Given the description of an element on the screen output the (x, y) to click on. 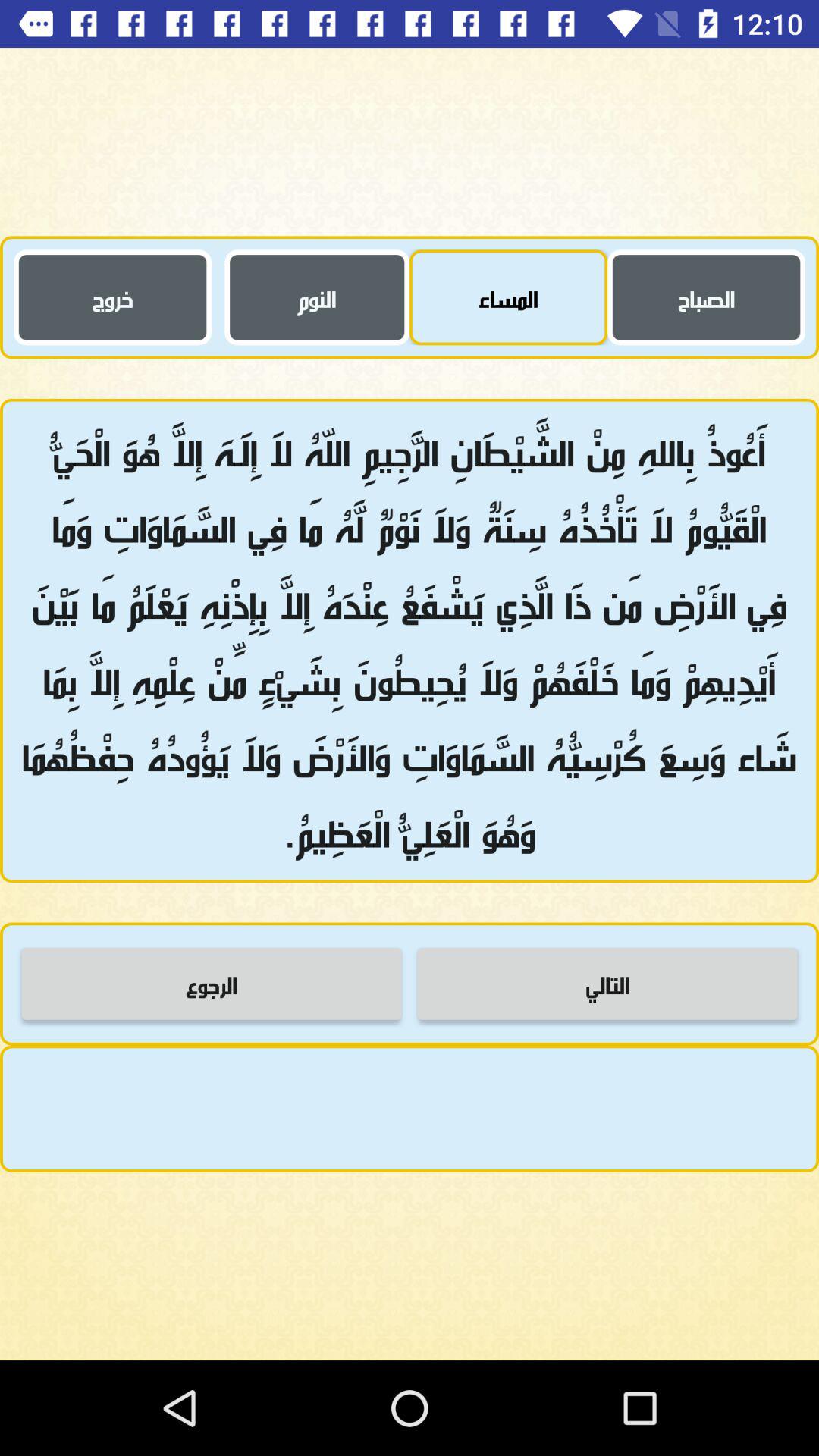
press the button at the top right corner (706, 297)
